Given the description of an element on the screen output the (x, y) to click on. 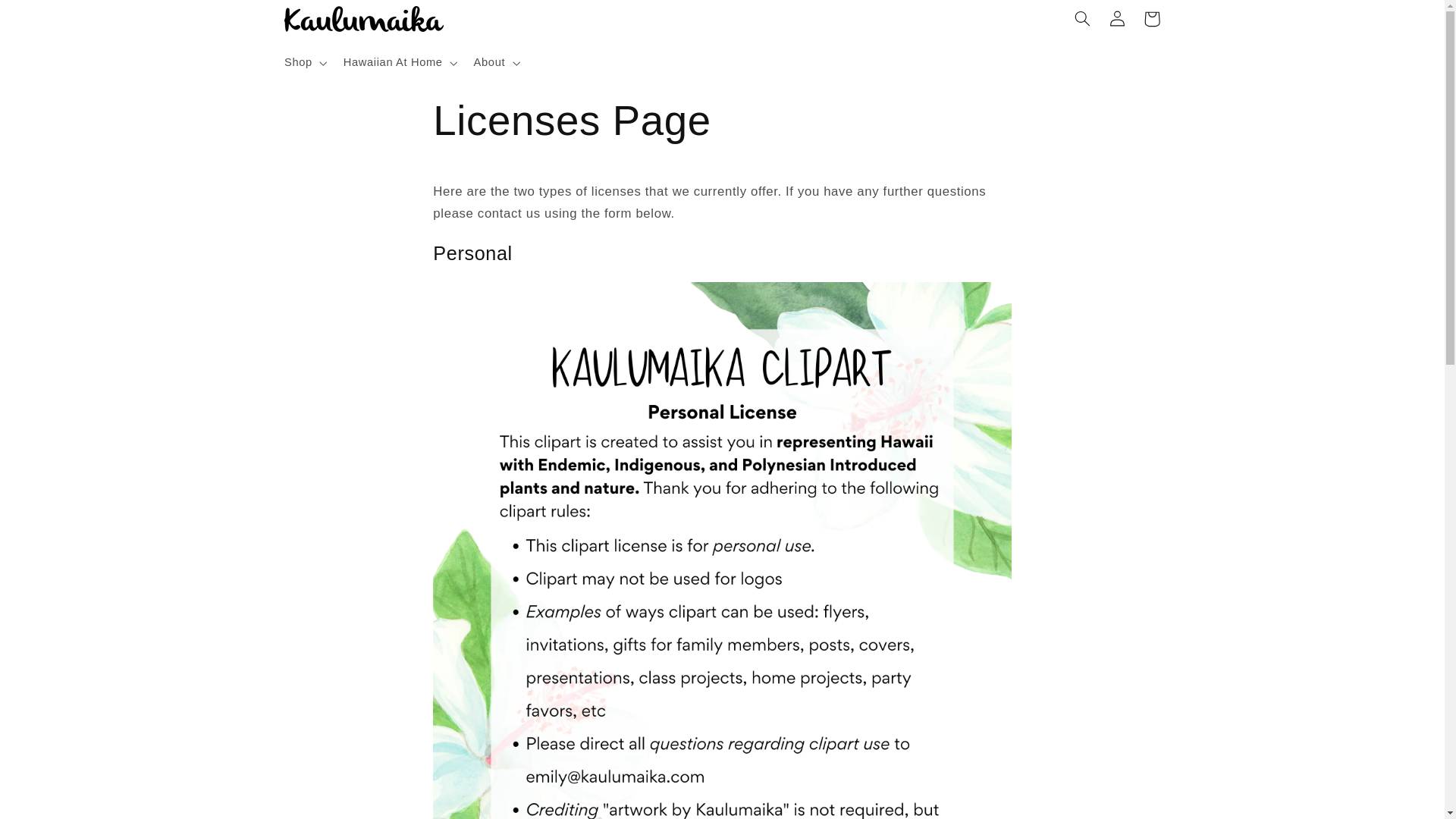
Skip to content (48, 18)
